Given the description of an element on the screen output the (x, y) to click on. 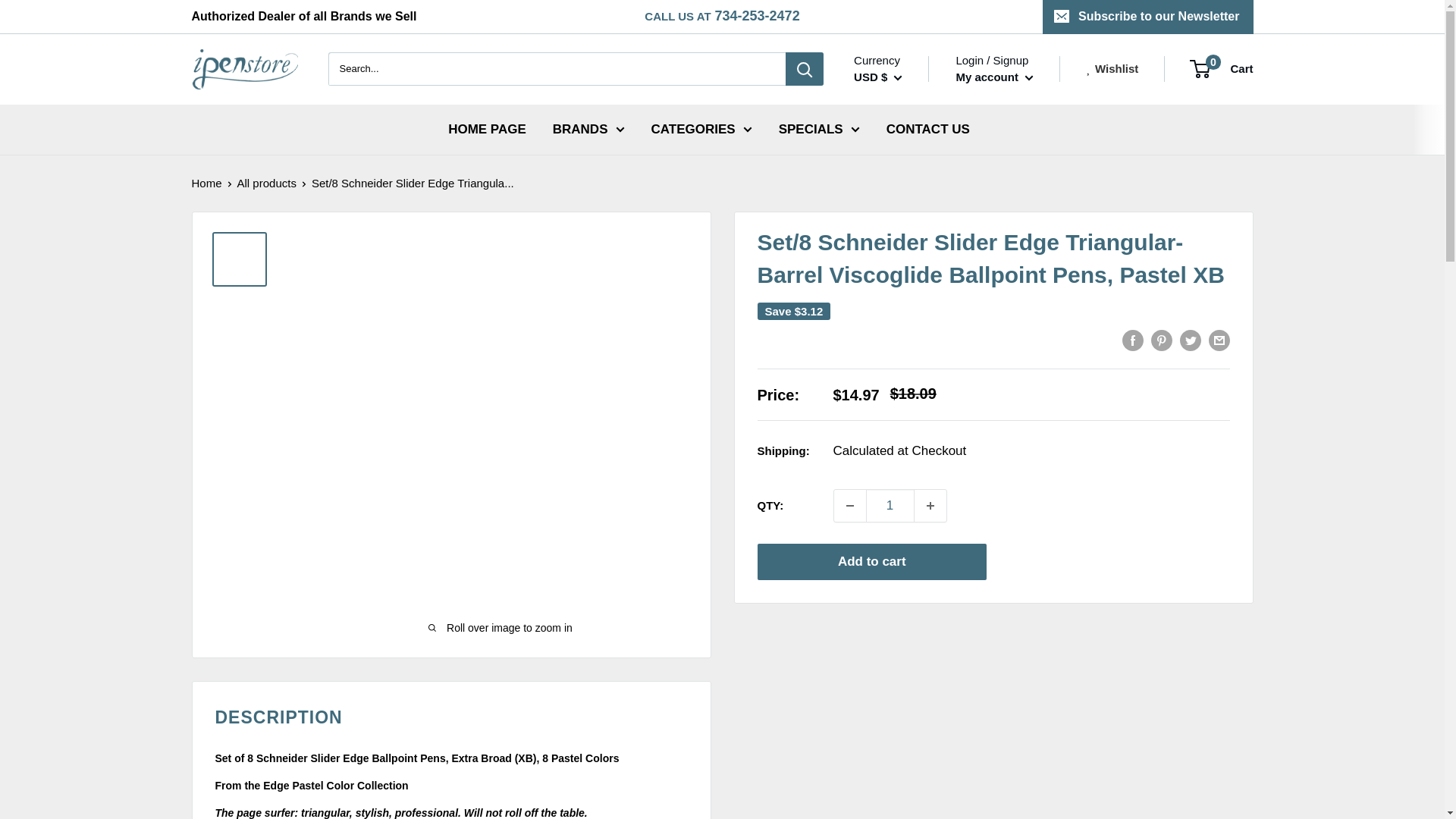
Decrease quantity by 1 (850, 505)
1 (890, 505)
Subscribe to our Newsletter (1147, 16)
CALL US AT 734-253-2472 (722, 16)
Increase quantity by 1 (930, 505)
